Given the description of an element on the screen output the (x, y) to click on. 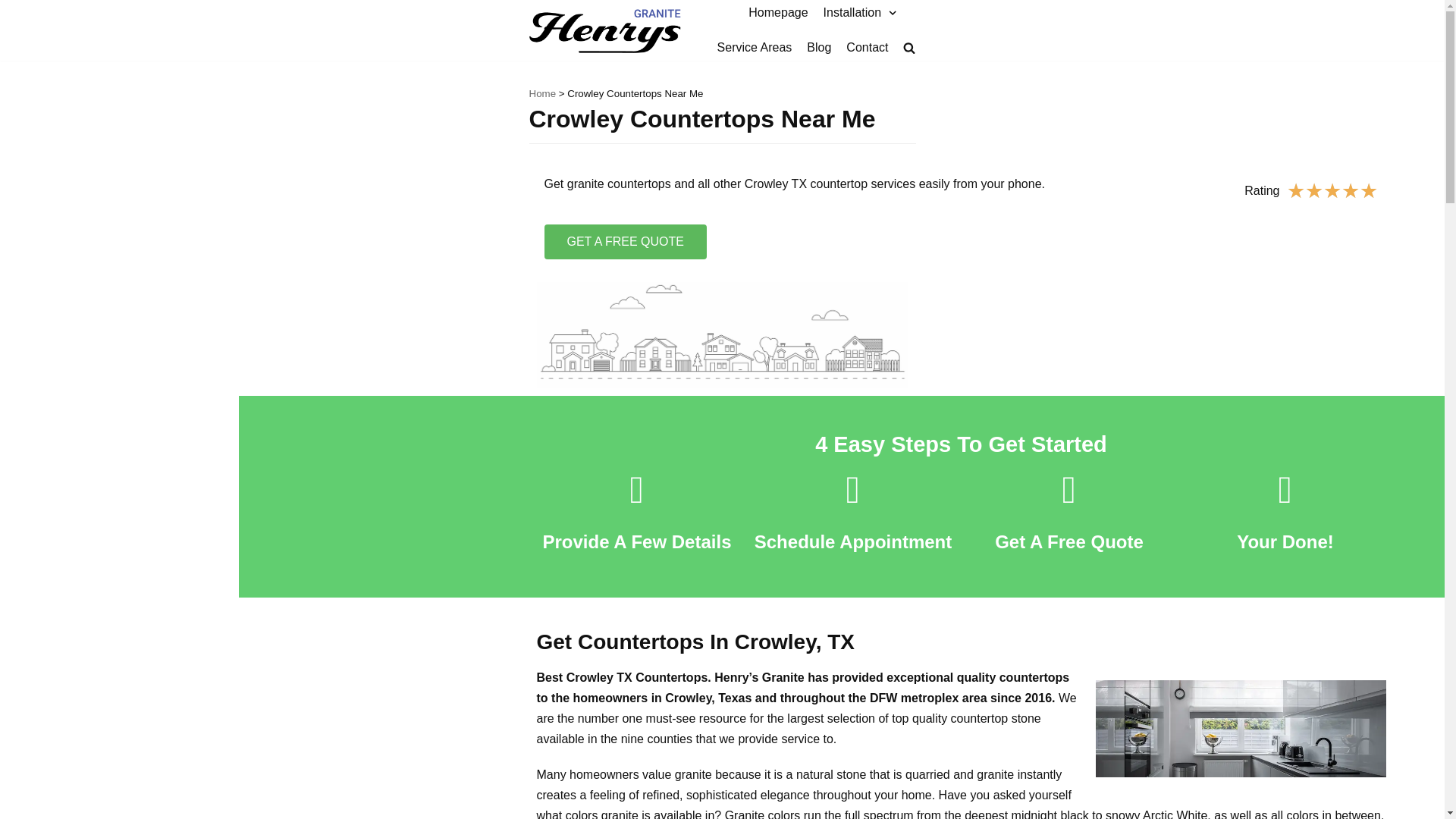
Service Areas (754, 47)
Search (882, 84)
Installation (862, 12)
Skip to content (15, 31)
Blog (818, 47)
Henrys Granite (605, 30)
Contact (866, 47)
Homepage (778, 12)
